Given the description of an element on the screen output the (x, y) to click on. 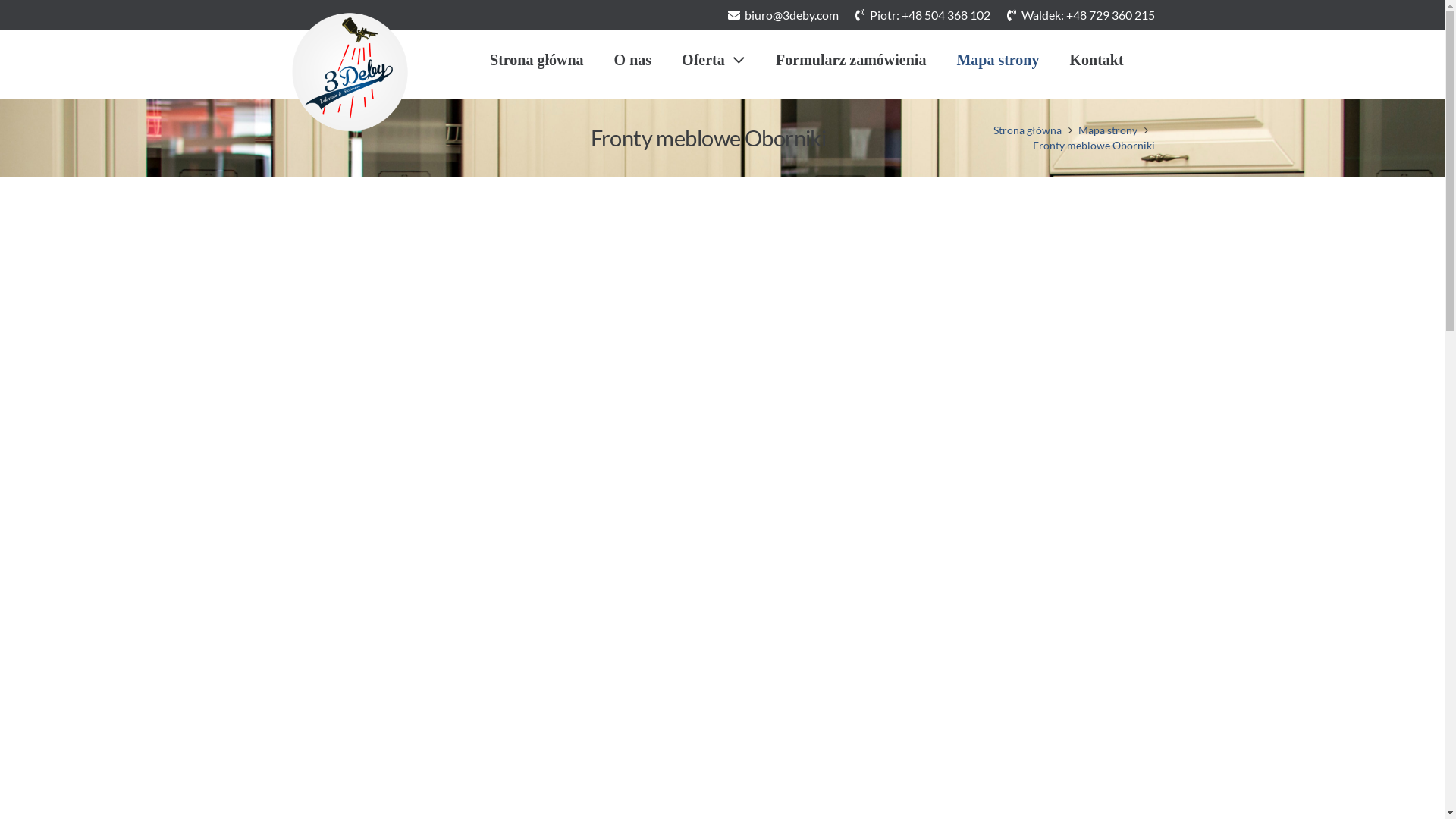
O nas Element type: text (632, 59)
Oferta Element type: text (713, 59)
Kontakt Element type: text (1096, 59)
Mapa strony Element type: text (997, 59)
Mapa strony Element type: text (1107, 129)
Fronty meblowe Oborniki Element type: text (1093, 144)
